Given the description of an element on the screen output the (x, y) to click on. 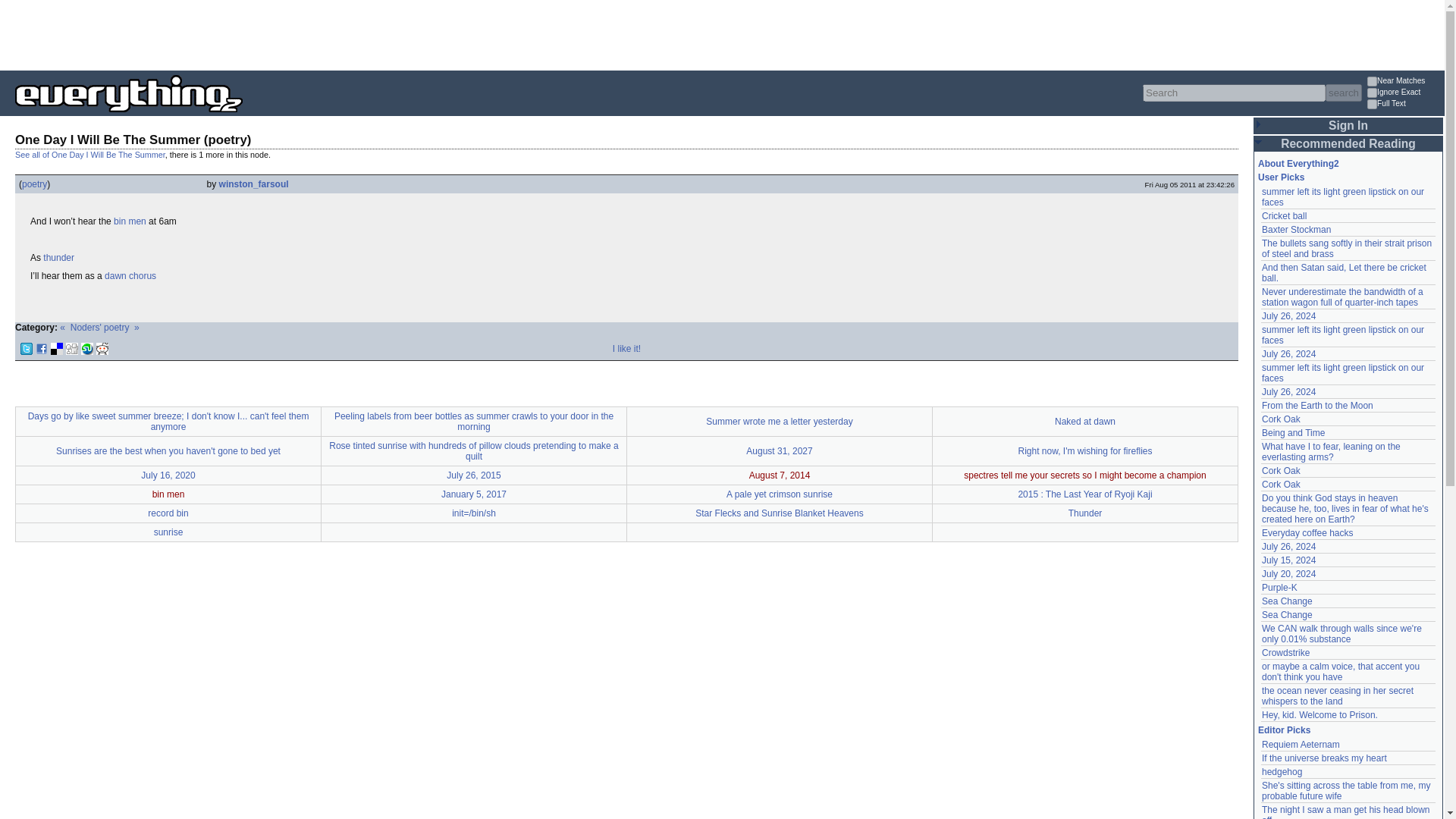
2015 : The Last Year of Ryoji Kaji (1084, 493)
sunrise (168, 532)
Star Flecks and Sunrise Blanket Heavens (779, 512)
Thunder (1085, 512)
dawn chorus (129, 276)
July 26, 2015 (473, 475)
poetry (33, 184)
Advertisement (275, 33)
Twitter (26, 348)
bin men (168, 493)
del.icio.us (56, 348)
August 7, 2014 (779, 475)
thunder (58, 257)
July 16, 2020 (168, 475)
